Given the description of an element on the screen output the (x, y) to click on. 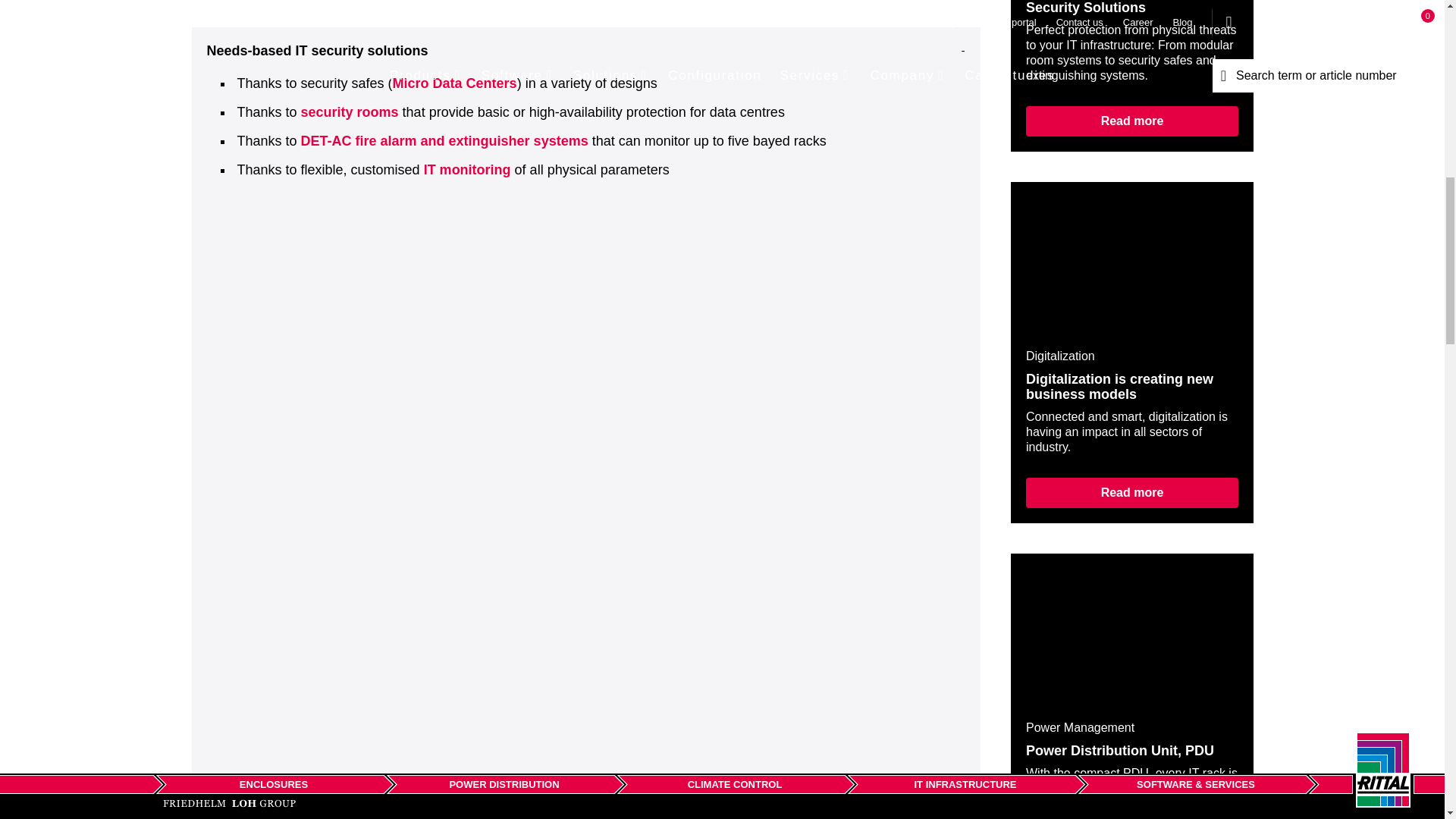
DET-AC fire alarm and extinguisher systems (444, 140)
Needs-based IT security solutions (584, 50)
IT monitoring (467, 169)
Micro Data Centers (454, 83)
security rooms (349, 111)
